Given the description of an element on the screen output the (x, y) to click on. 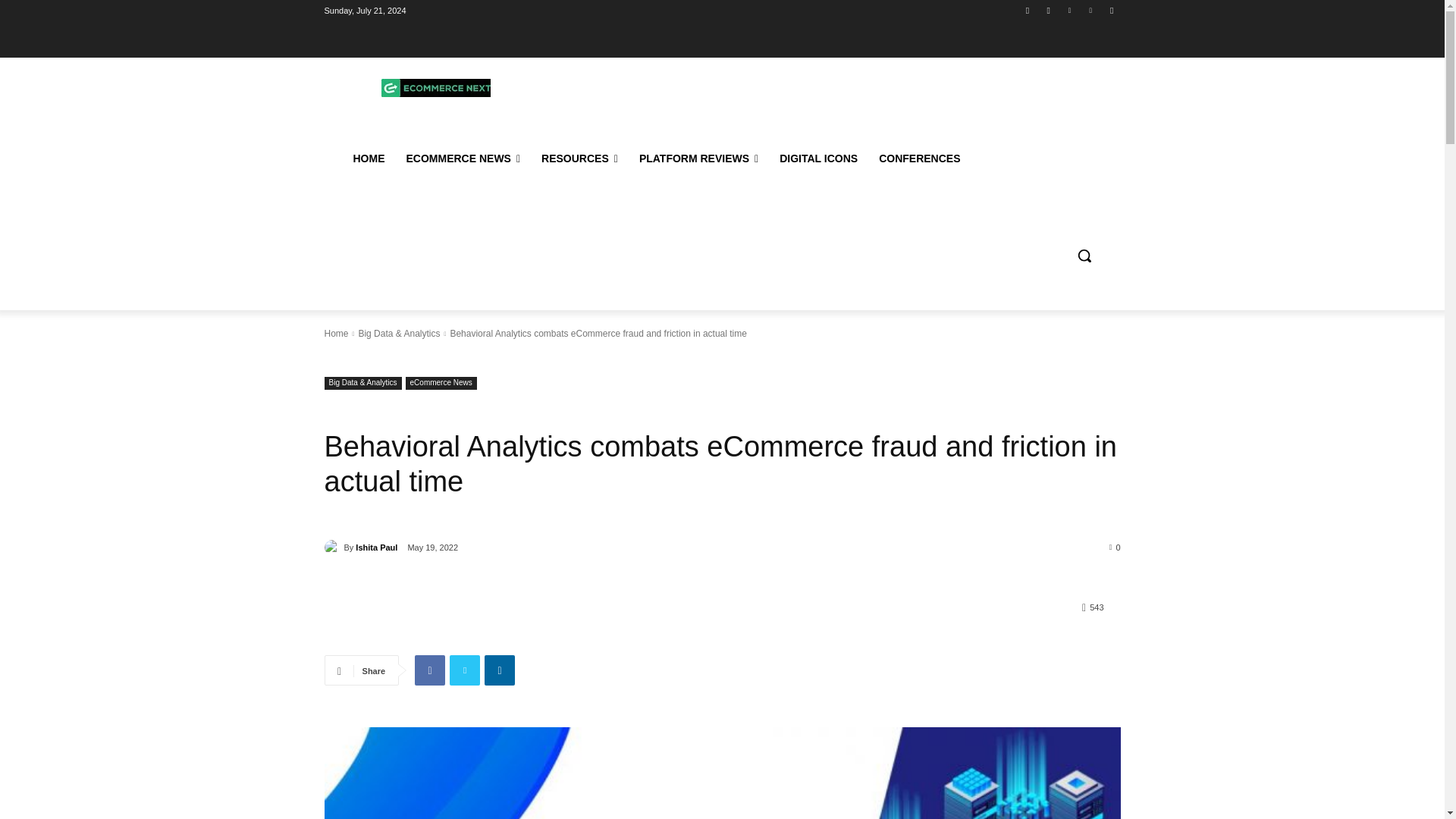
Twitter (1069, 9)
Facebook (1027, 9)
Instagram (1048, 9)
Vimeo (1090, 9)
Youtube (1112, 9)
